Given the description of an element on the screen output the (x, y) to click on. 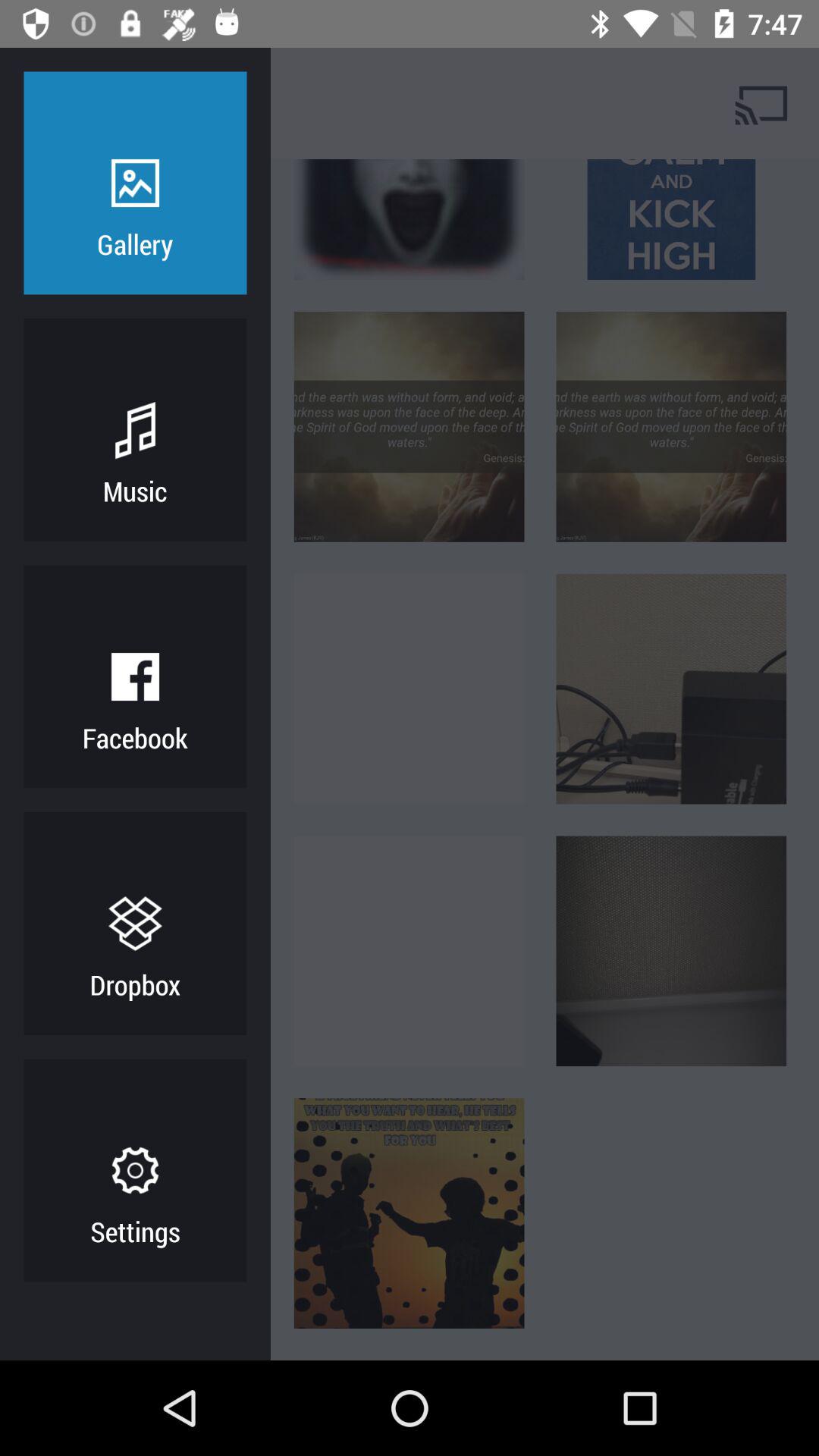
launch dropbox (134, 984)
